Given the description of an element on the screen output the (x, y) to click on. 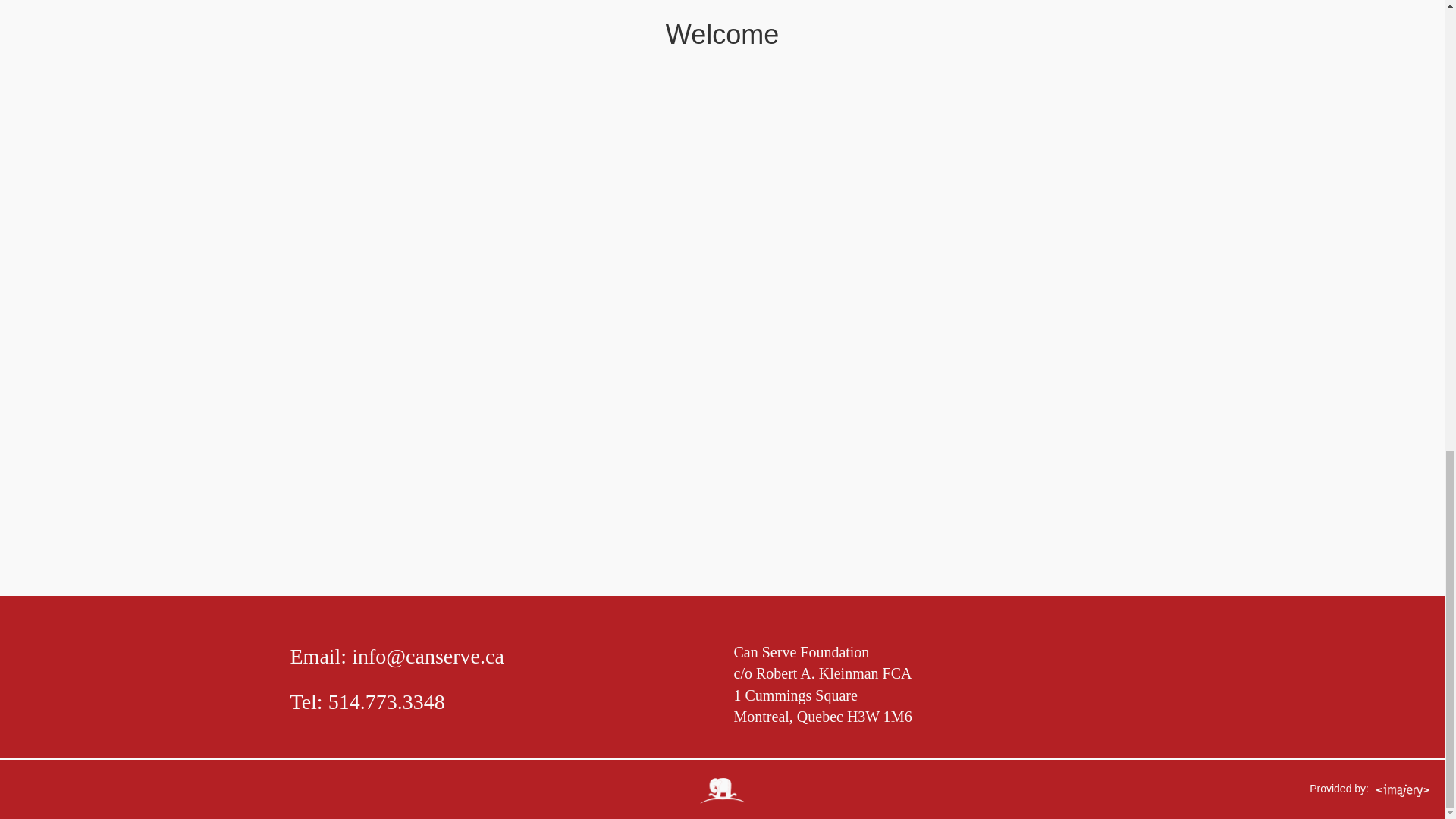
Tel: 514.773.3348 (499, 702)
